Given the description of an element on the screen output the (x, y) to click on. 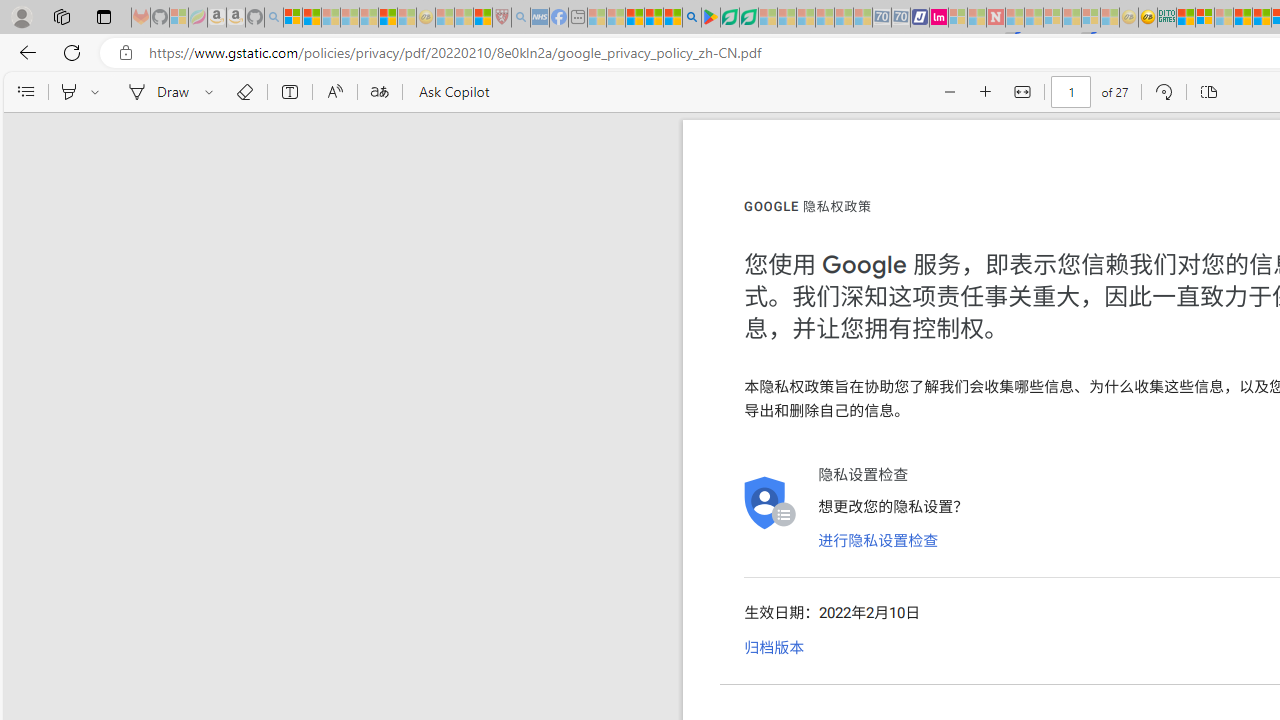
Read aloud (334, 92)
Select ink properties (212, 92)
Draw (155, 92)
Kinda Frugal - MSN (1262, 17)
